Given the description of an element on the screen output the (x, y) to click on. 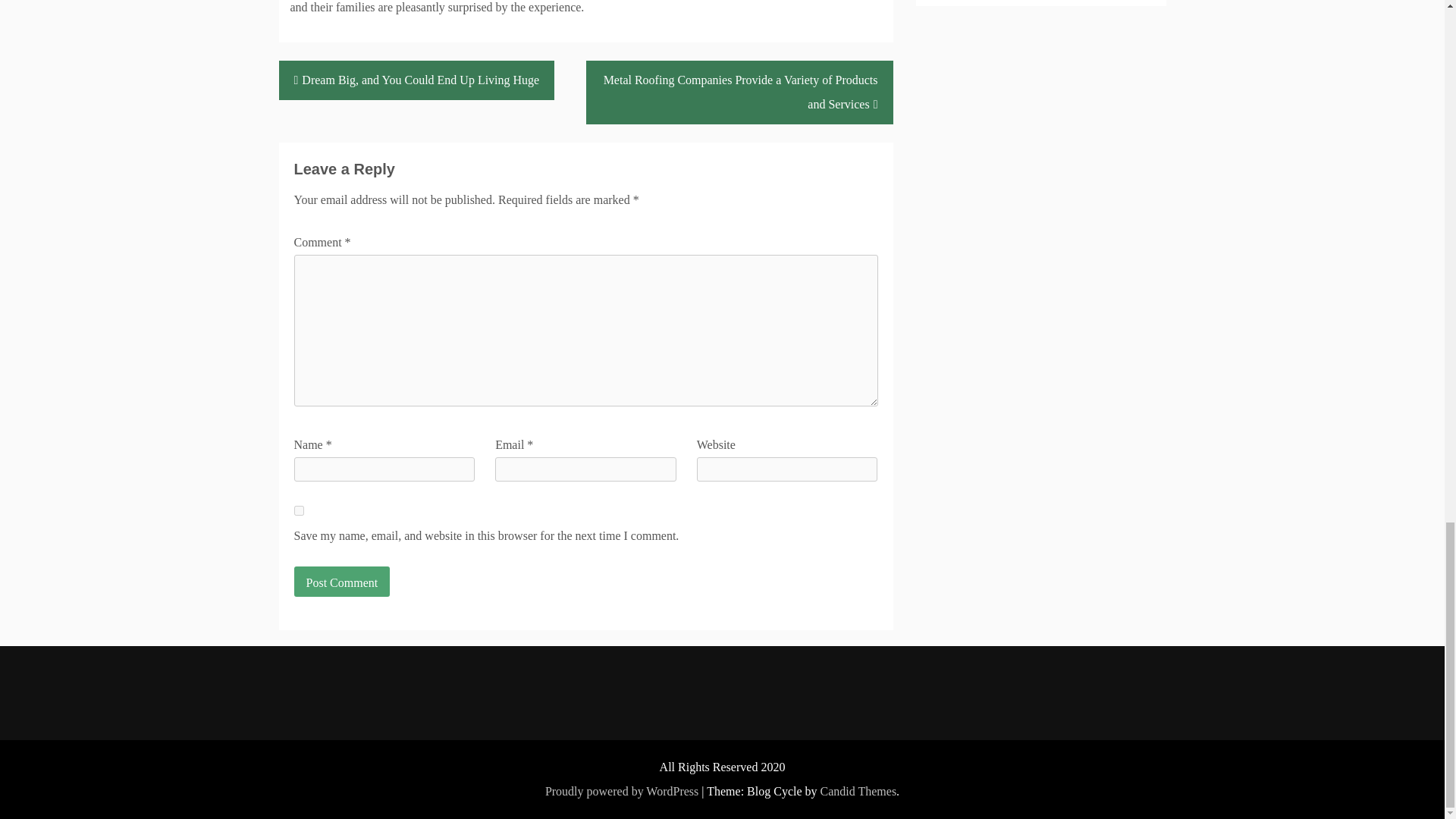
Dream Big, and You Could End Up Living Huge (416, 79)
Proudly powered by WordPress (621, 790)
Candid Themes (858, 790)
Post Comment (342, 581)
Post Comment (342, 581)
yes (299, 510)
